Given the description of an element on the screen output the (x, y) to click on. 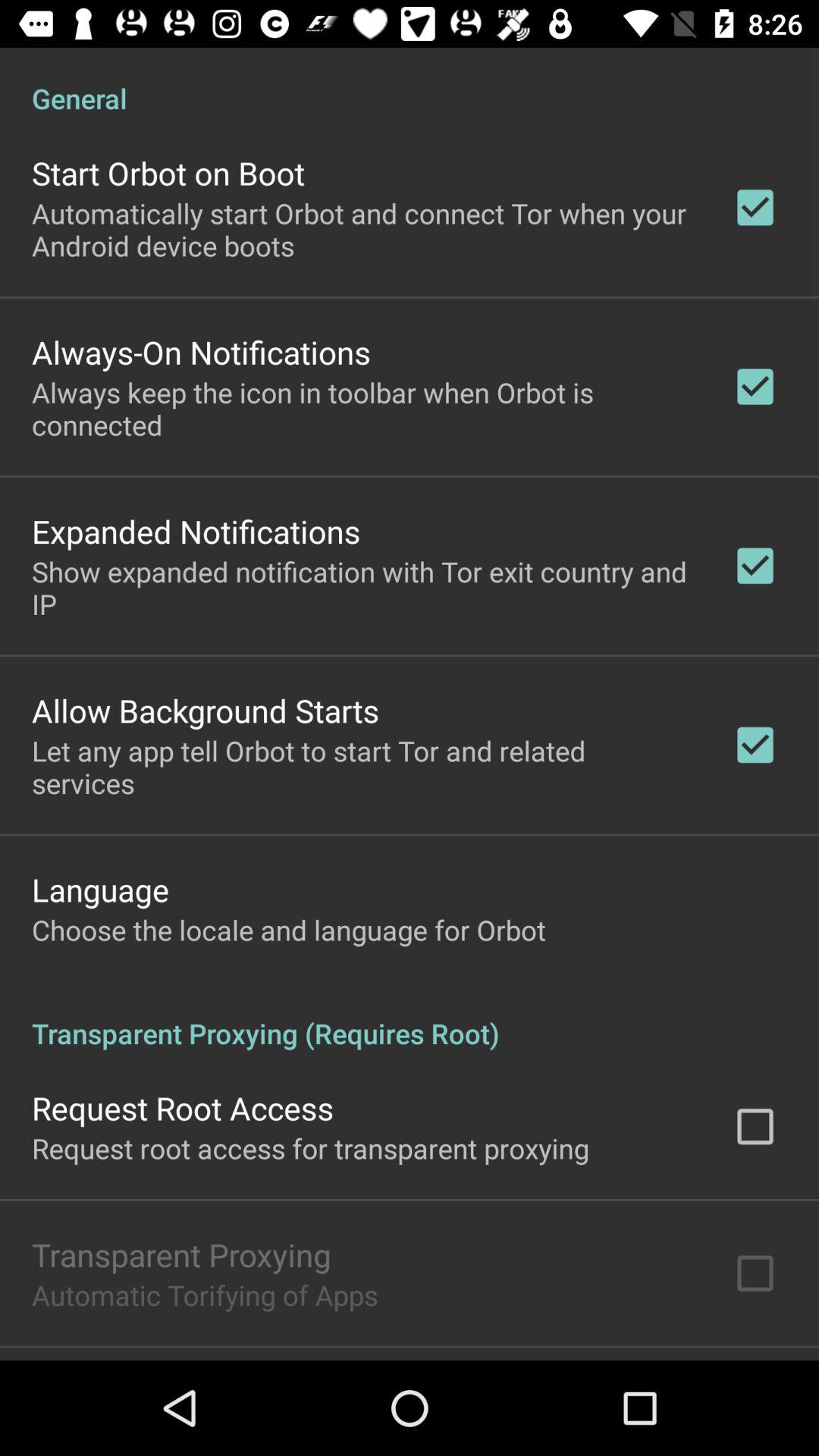
launch the always-on notifications (200, 351)
